Given the description of an element on the screen output the (x, y) to click on. 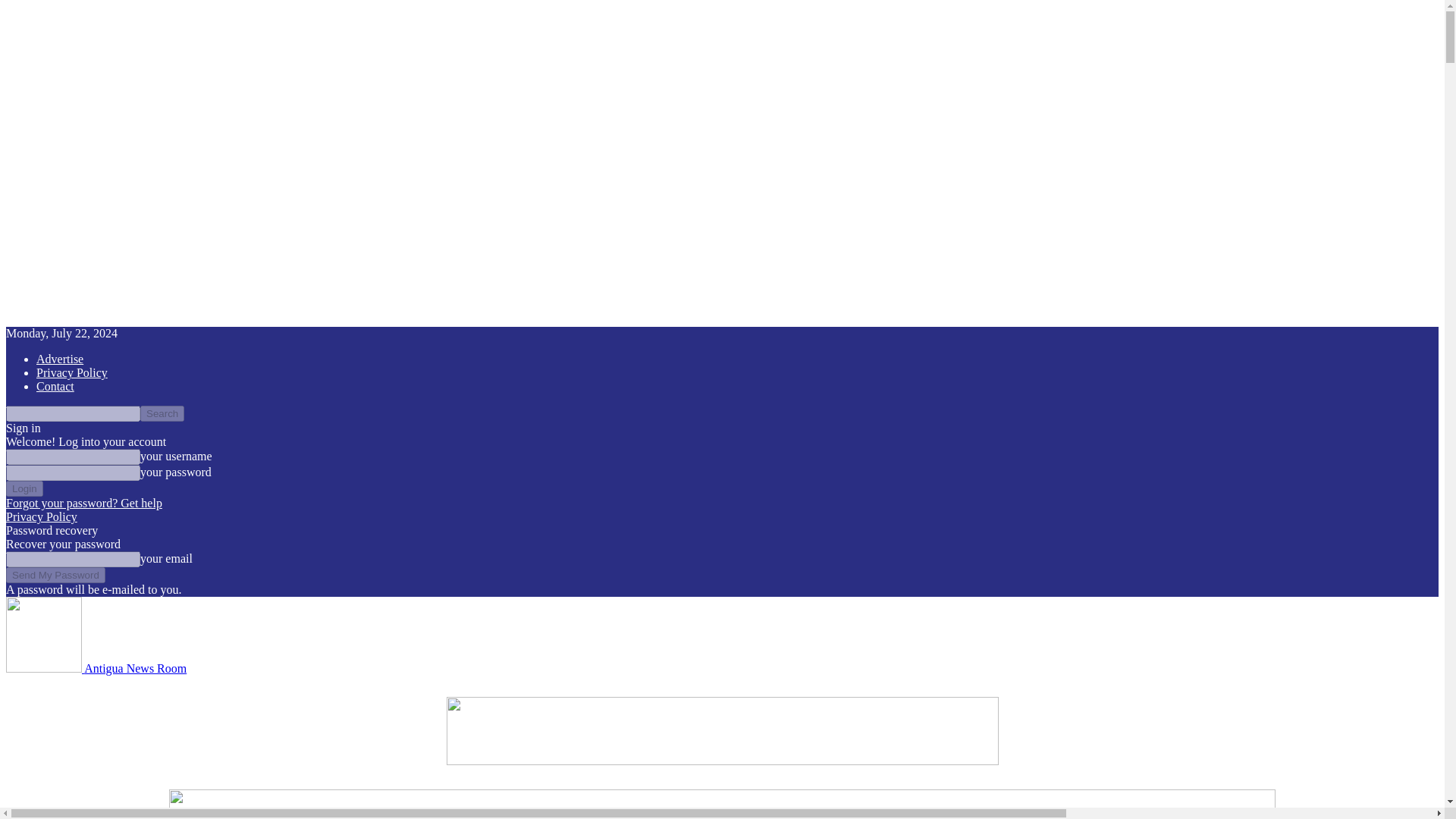
Advertise (59, 358)
Send My Password (54, 575)
Privacy Policy (41, 516)
Contact (55, 386)
Privacy Policy (71, 372)
Search (161, 413)
Antigua News Room (95, 667)
Forgot your password? Get help (83, 502)
Search (161, 413)
Login (24, 488)
